Given the description of an element on the screen output the (x, y) to click on. 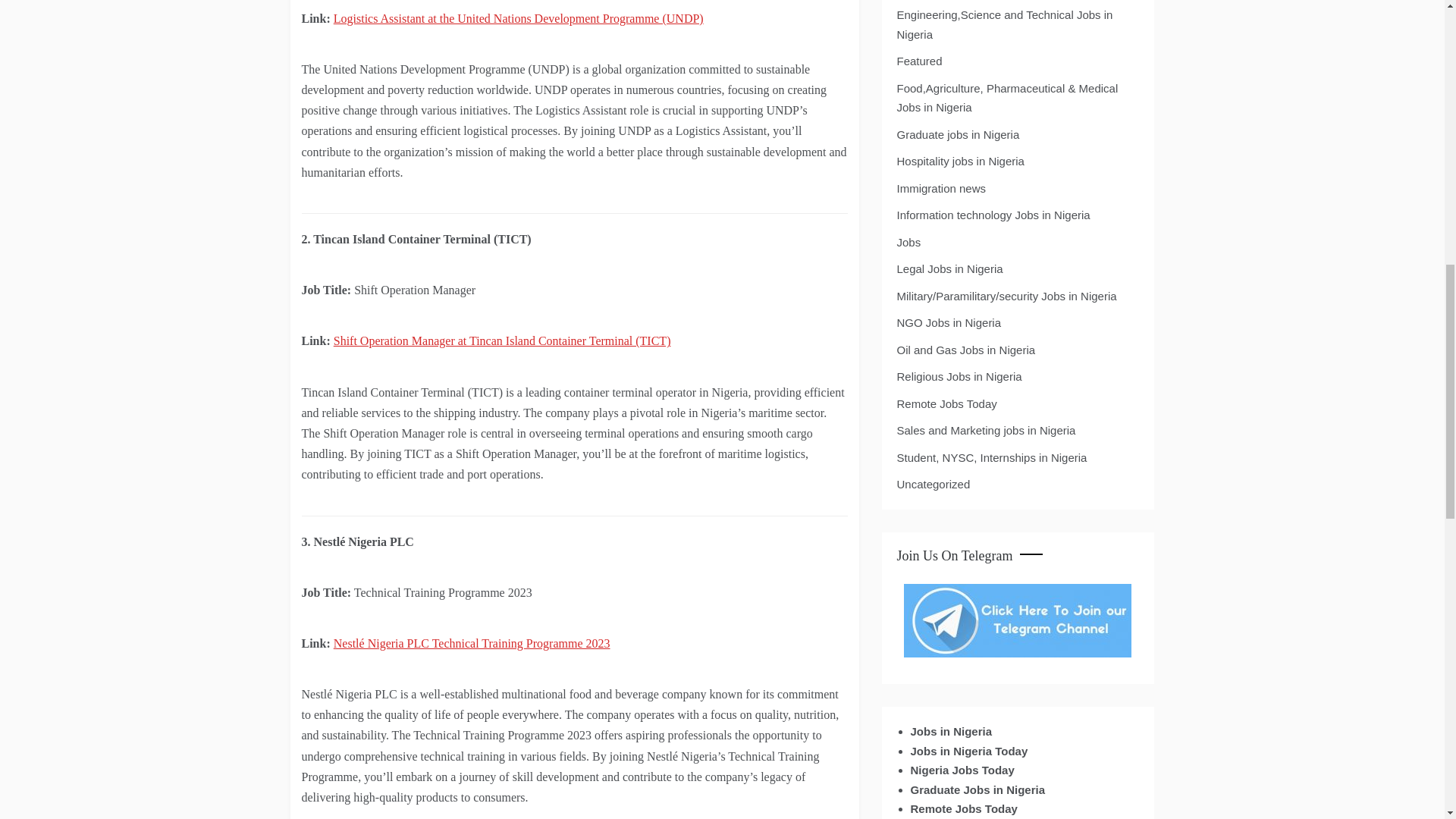
Hospitality jobs in Nigeria (959, 161)
Graduate jobs in Nigeria (957, 134)
Information technology Jobs in Nigeria (992, 215)
Featured (919, 61)
Engineering,Science and Technical Jobs in Nigeria (1015, 24)
Immigration news (940, 189)
